Given the description of an element on the screen output the (x, y) to click on. 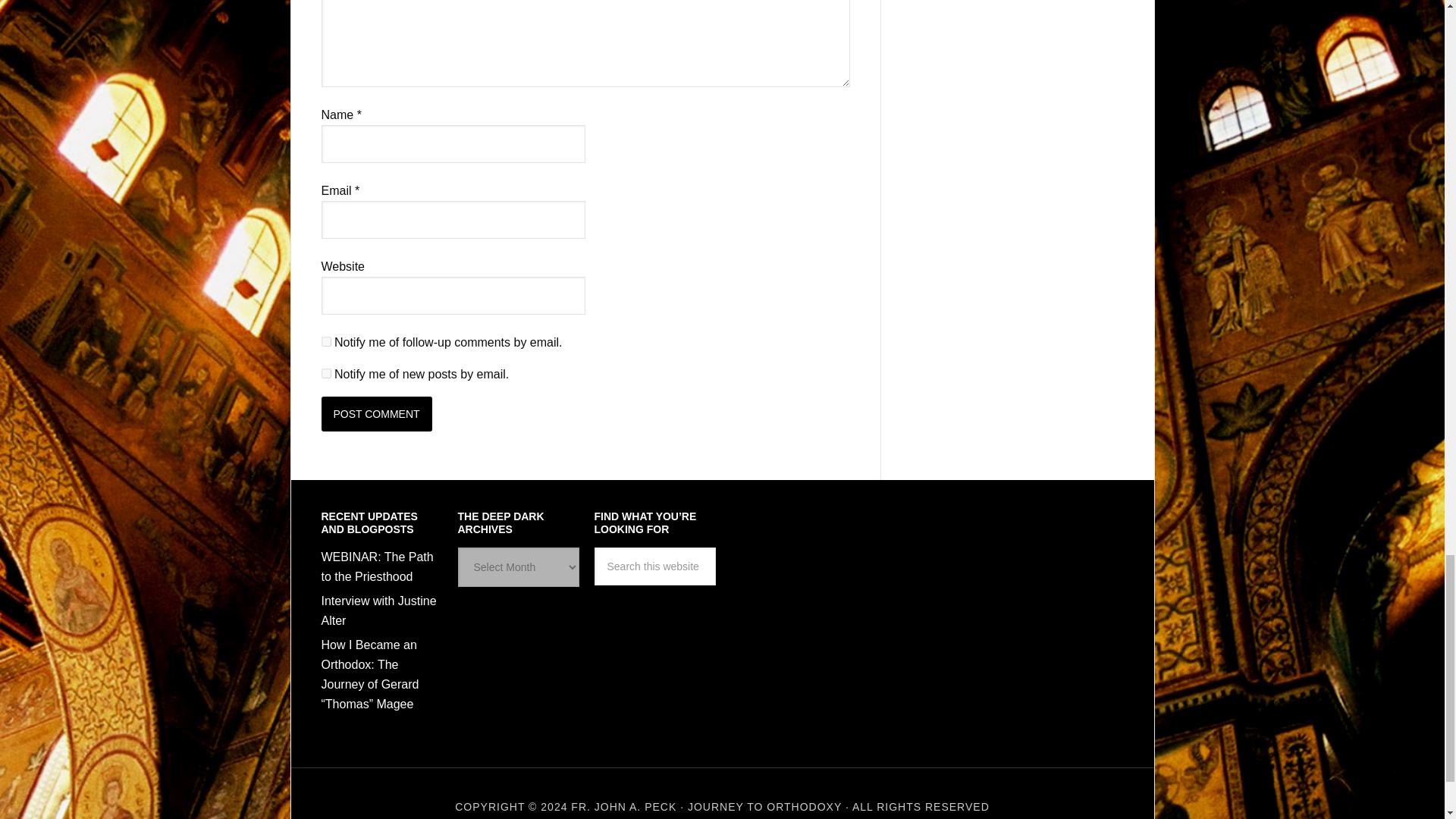
Post Comment (376, 413)
subscribe (326, 373)
subscribe (326, 341)
